Given the description of an element on the screen output the (x, y) to click on. 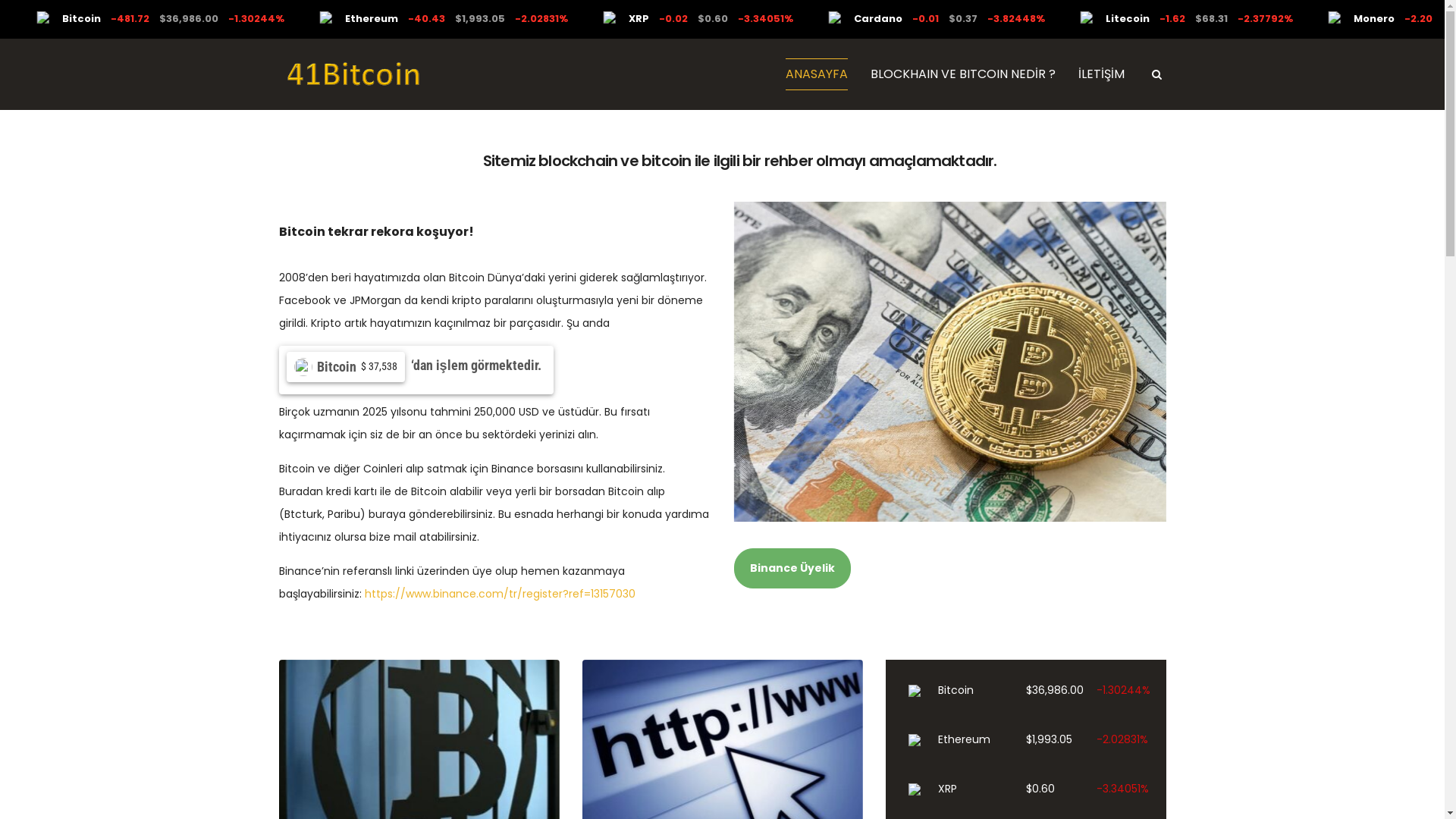
ANASAYFA Element type: text (816, 74)
Bitcoin-dollar-top-spread Element type: hover (950, 361)
https://www.binance.com/tr/register?ref=13157030 Element type: text (499, 593)
